Given the description of an element on the screen output the (x, y) to click on. 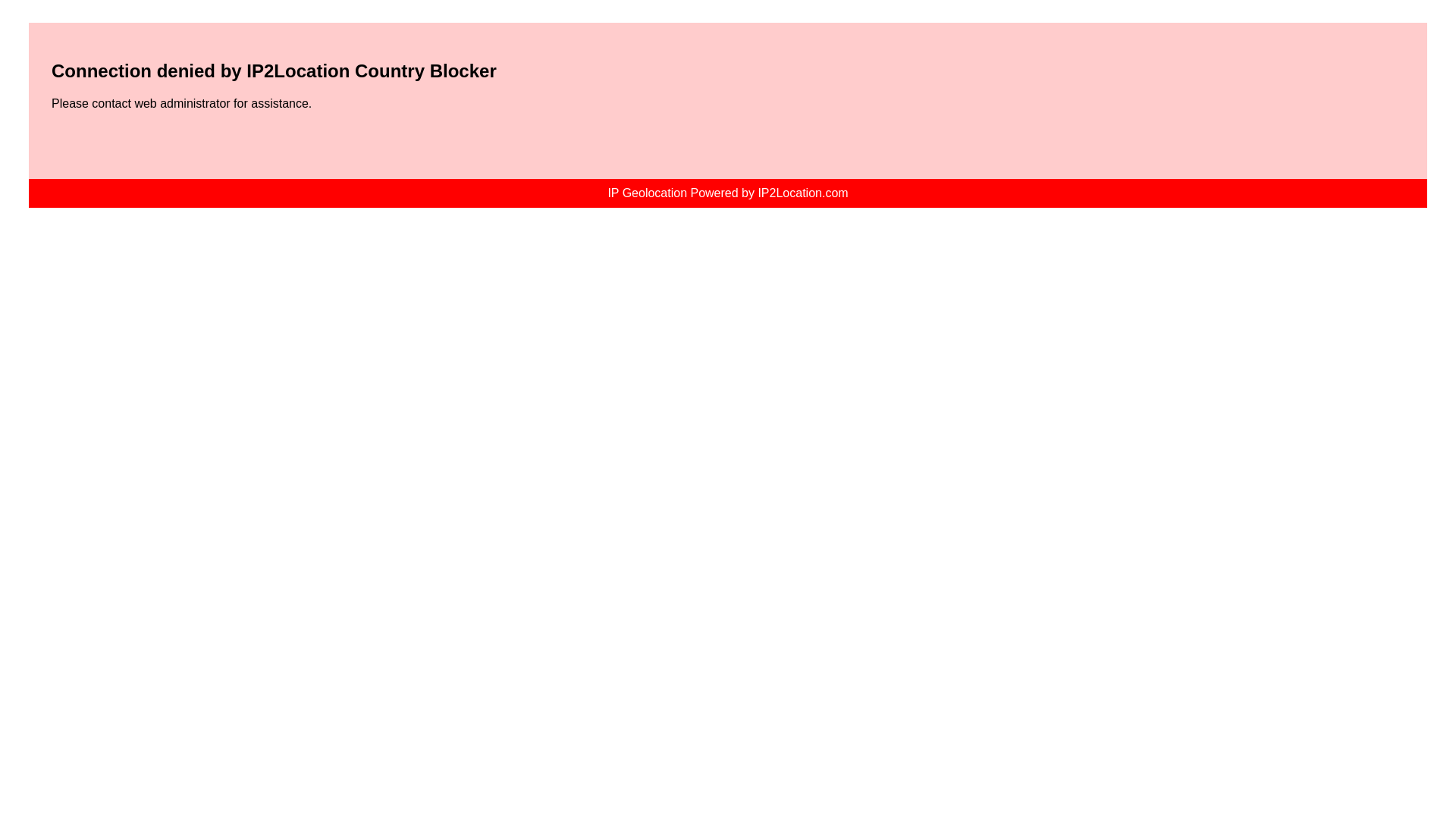
IP Geolocation Powered by IP2Location.com (727, 192)
